Given the description of an element on the screen output the (x, y) to click on. 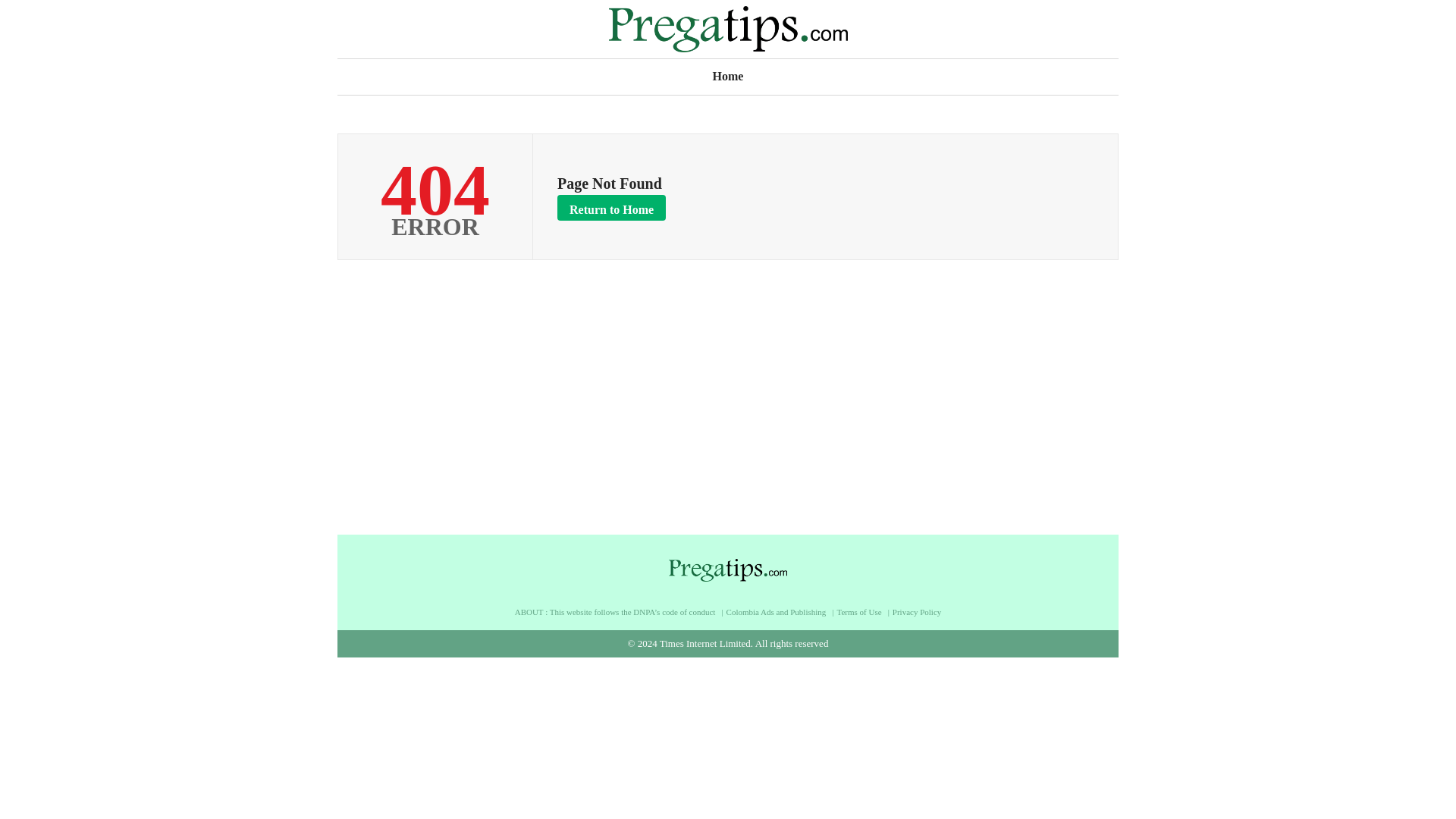
Home (728, 74)
Terms of Use (863, 612)
Return to Home (611, 207)
Privacy Policy (916, 612)
Colombia Ads and Publishing (780, 612)
